Given the description of an element on the screen output the (x, y) to click on. 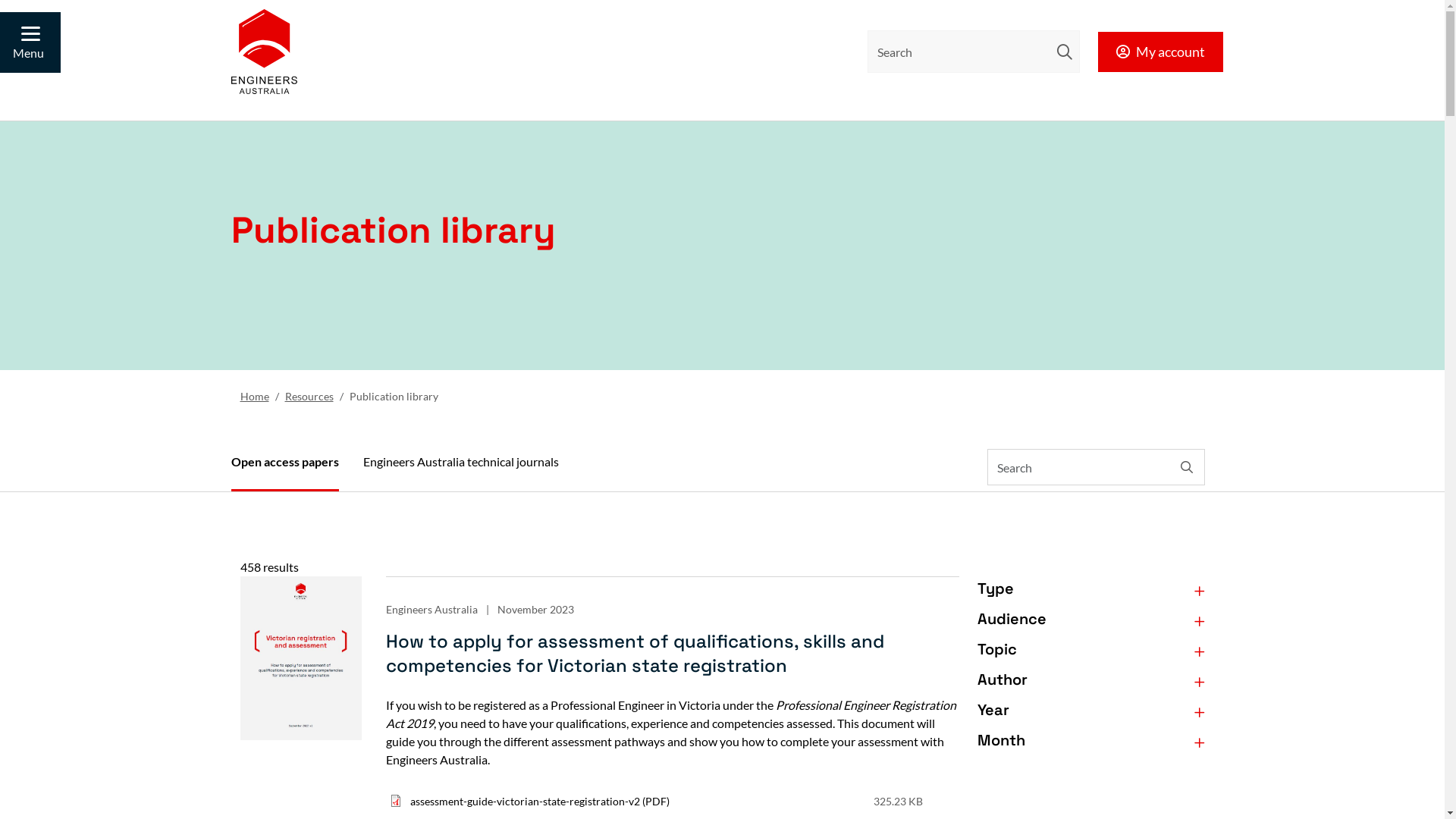
Mobile
Menu Element type: text (30, 42)
Topic Element type: text (1090, 652)
Audience Element type: text (1090, 621)
Author Element type: text (1090, 682)
Apply Element type: text (18, 17)
assessment-guide-victorian-state-registration-v2 (PDF) Element type: text (538, 801)
Engineers Australia technical journals Element type: text (460, 461)
search submit Element type: hover (1064, 51)
Year Element type: text (1090, 712)
Back to homepage Element type: text (263, 51)
Home Element type: text (253, 395)
Save Element type: text (722, 15)
Type Element type: text (1090, 591)
Resources Element type: text (309, 395)
search Element type: text (1064, 51)
Enter the terms you wish to search for. Element type: hover (973, 51)
Open access papers Element type: text (284, 463)
Month Element type: text (1090, 743)
My account Element type: text (1160, 51)
